Given the description of an element on the screen output the (x, y) to click on. 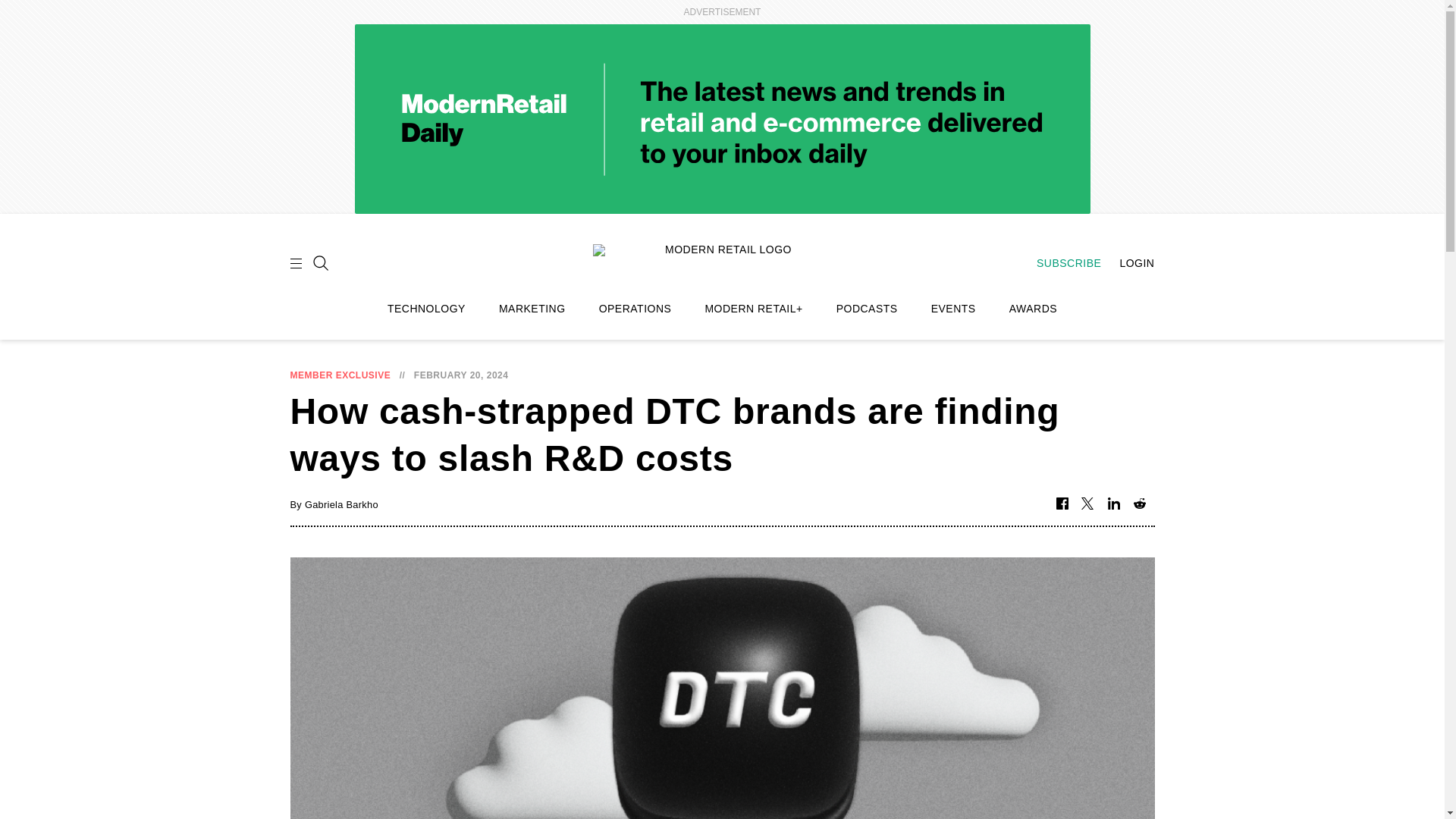
Modern Retail home (722, 261)
MARKETING (532, 308)
Share on Facebook (1061, 504)
Share on Twitter (1087, 504)
EVENTS (953, 308)
PODCASTS (866, 308)
AWARDS (1033, 308)
OPERATIONS (634, 308)
Share on LinkedIn (1113, 504)
LOGIN (1128, 262)
SUBSCRIBE (1061, 262)
TECHNOLOGY (426, 308)
